Given the description of an element on the screen output the (x, y) to click on. 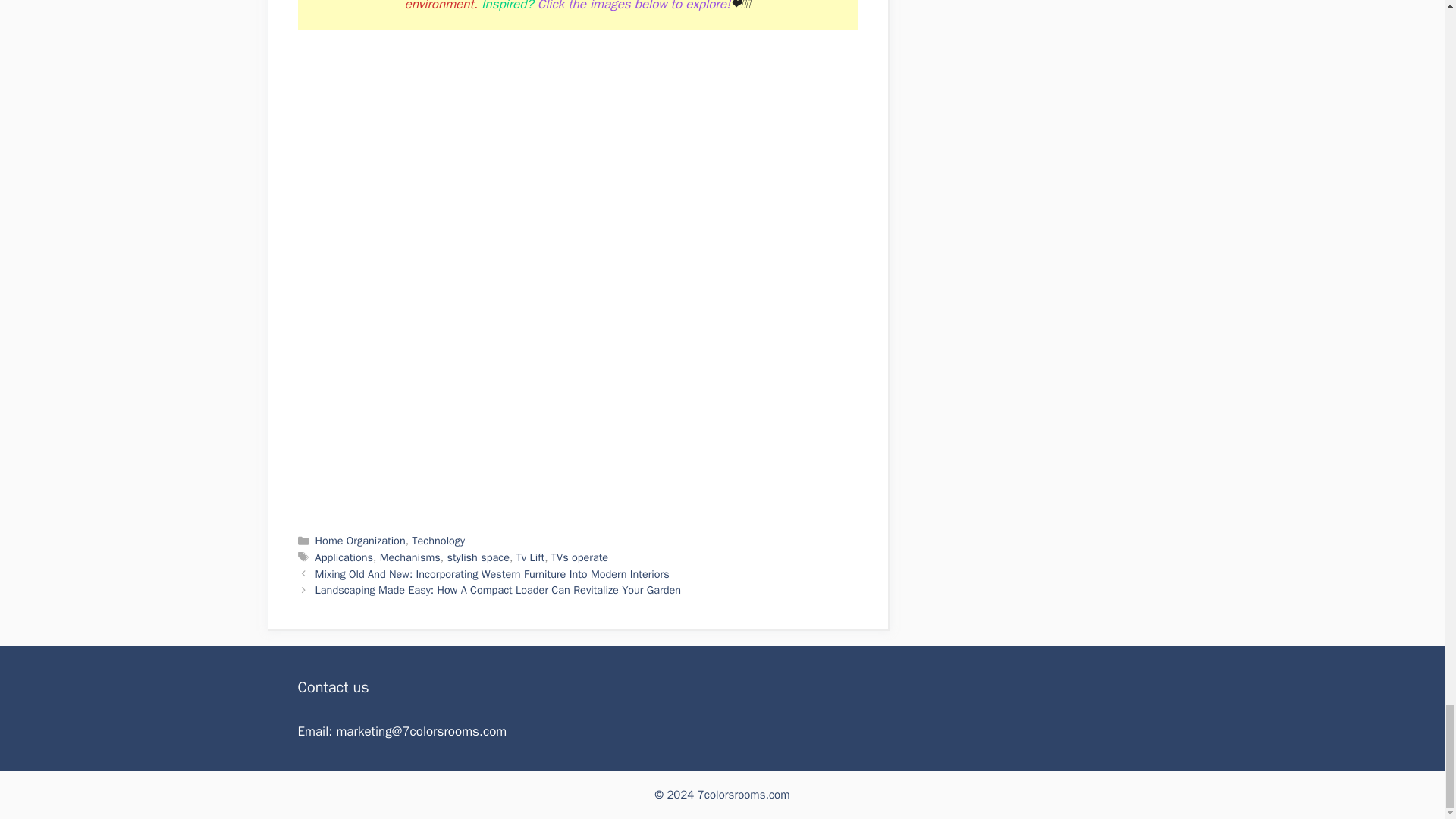
Tv Lift (530, 557)
Applications (343, 557)
Home Organization (360, 540)
Technology (438, 540)
TVs operate (579, 557)
stylish space (477, 557)
Mechanisms (410, 557)
